Given the description of an element on the screen output the (x, y) to click on. 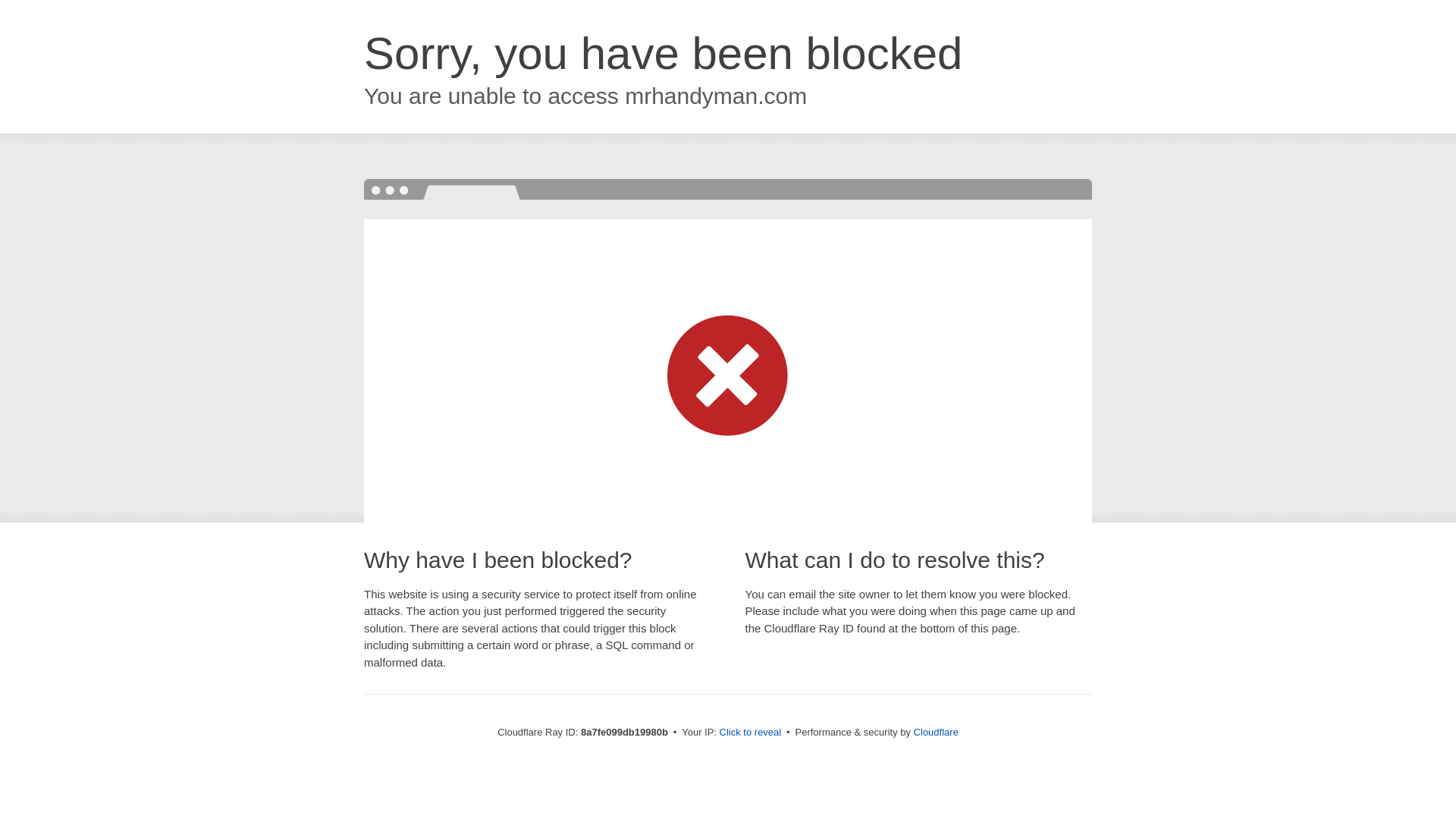
Click to reveal (750, 732)
Cloudflare (936, 731)
